Given the description of an element on the screen output the (x, y) to click on. 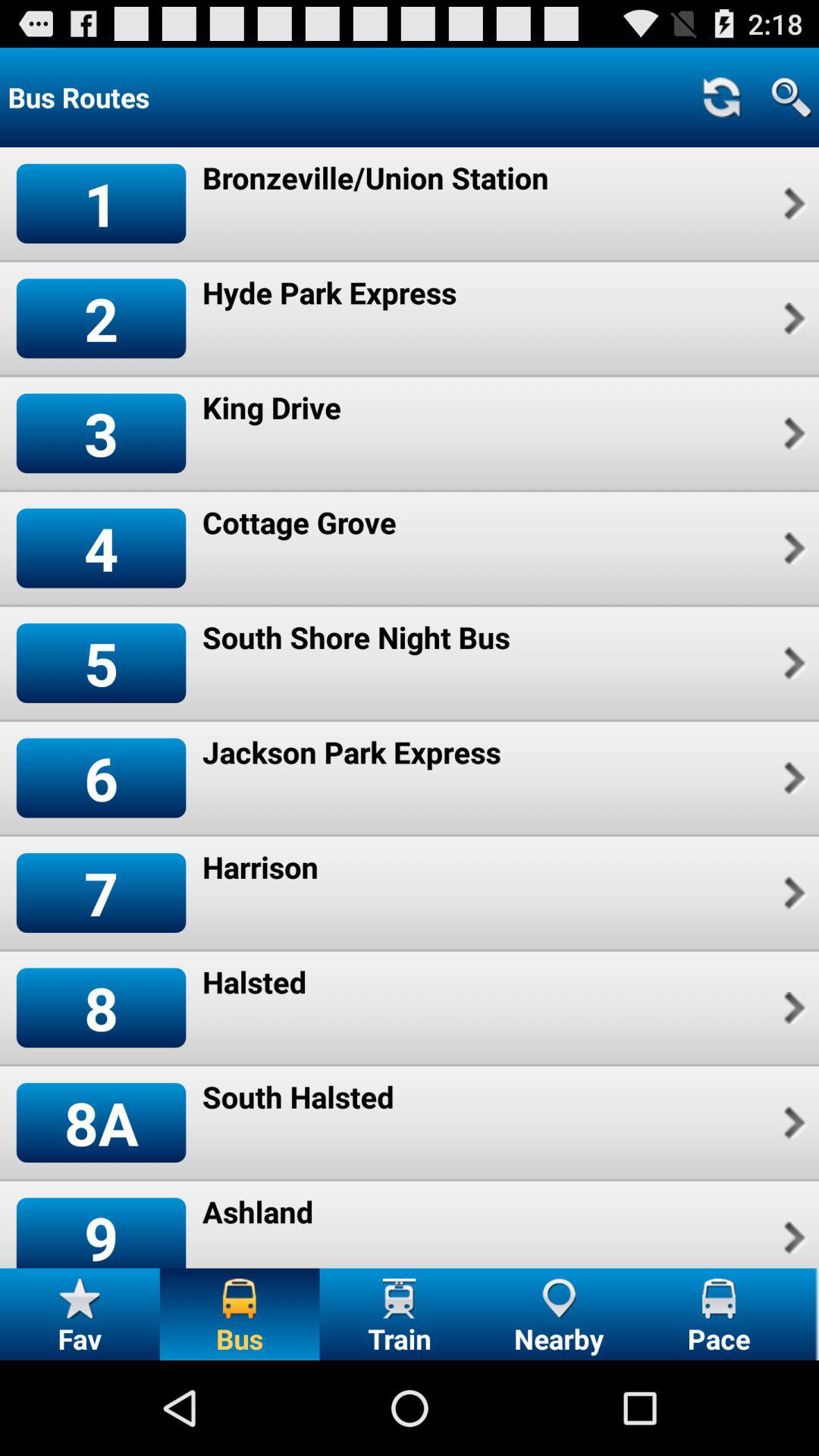
tap item next to the 9 (257, 1211)
